Given the description of an element on the screen output the (x, y) to click on. 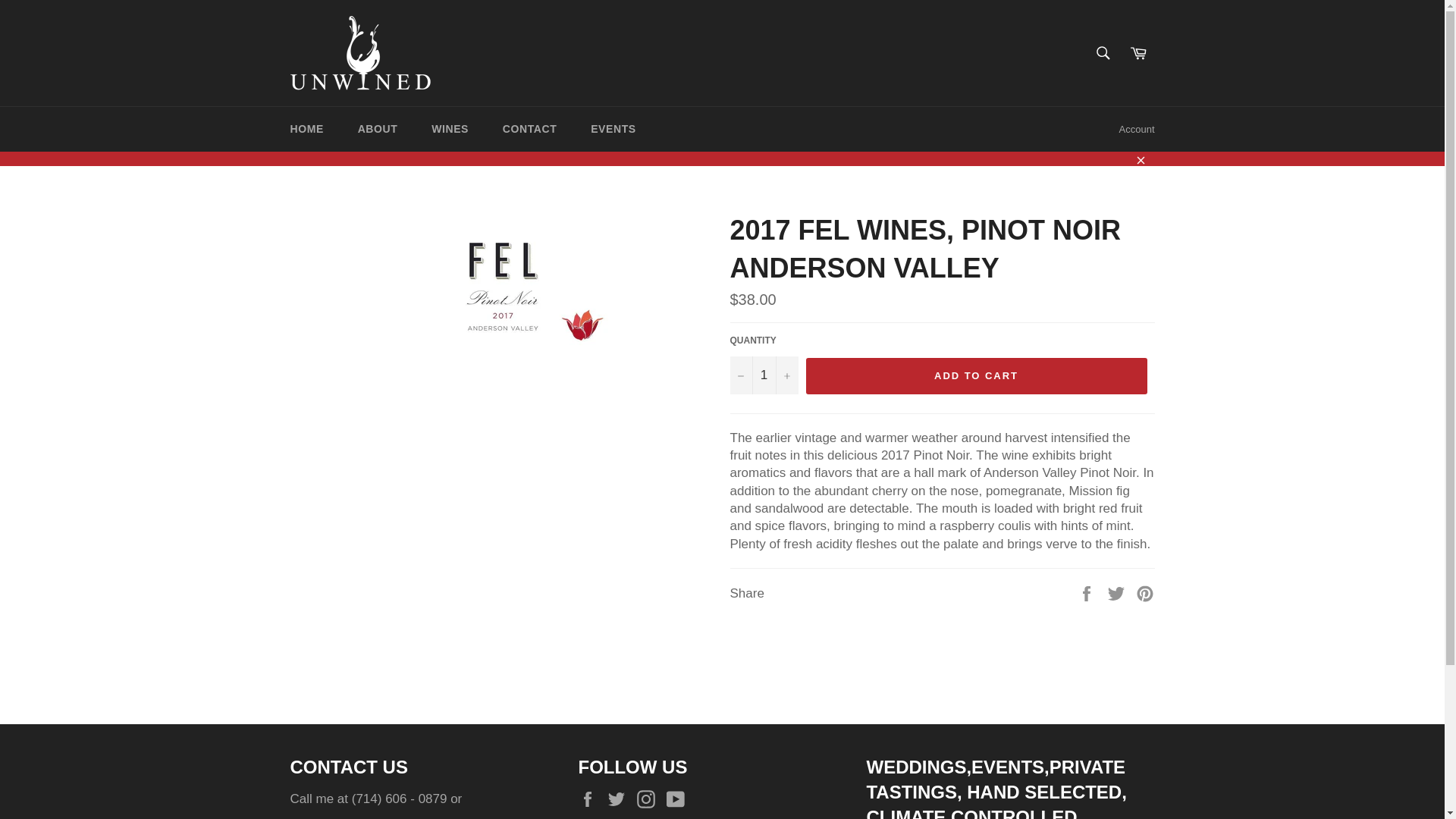
Cart (1138, 52)
Instagram (649, 799)
Tweet on Twitter (1117, 592)
Twitter (620, 799)
ADD TO CART (976, 375)
YouTube (679, 799)
Unwined on YouTube (679, 799)
ABOUT (377, 129)
HOME (306, 129)
Share on Facebook (1088, 592)
Pin on Pinterest (1144, 592)
Share on Facebook (1088, 592)
Search (1101, 52)
Unwined on Facebook (591, 799)
Unwined on Twitter (620, 799)
